Given the description of an element on the screen output the (x, y) to click on. 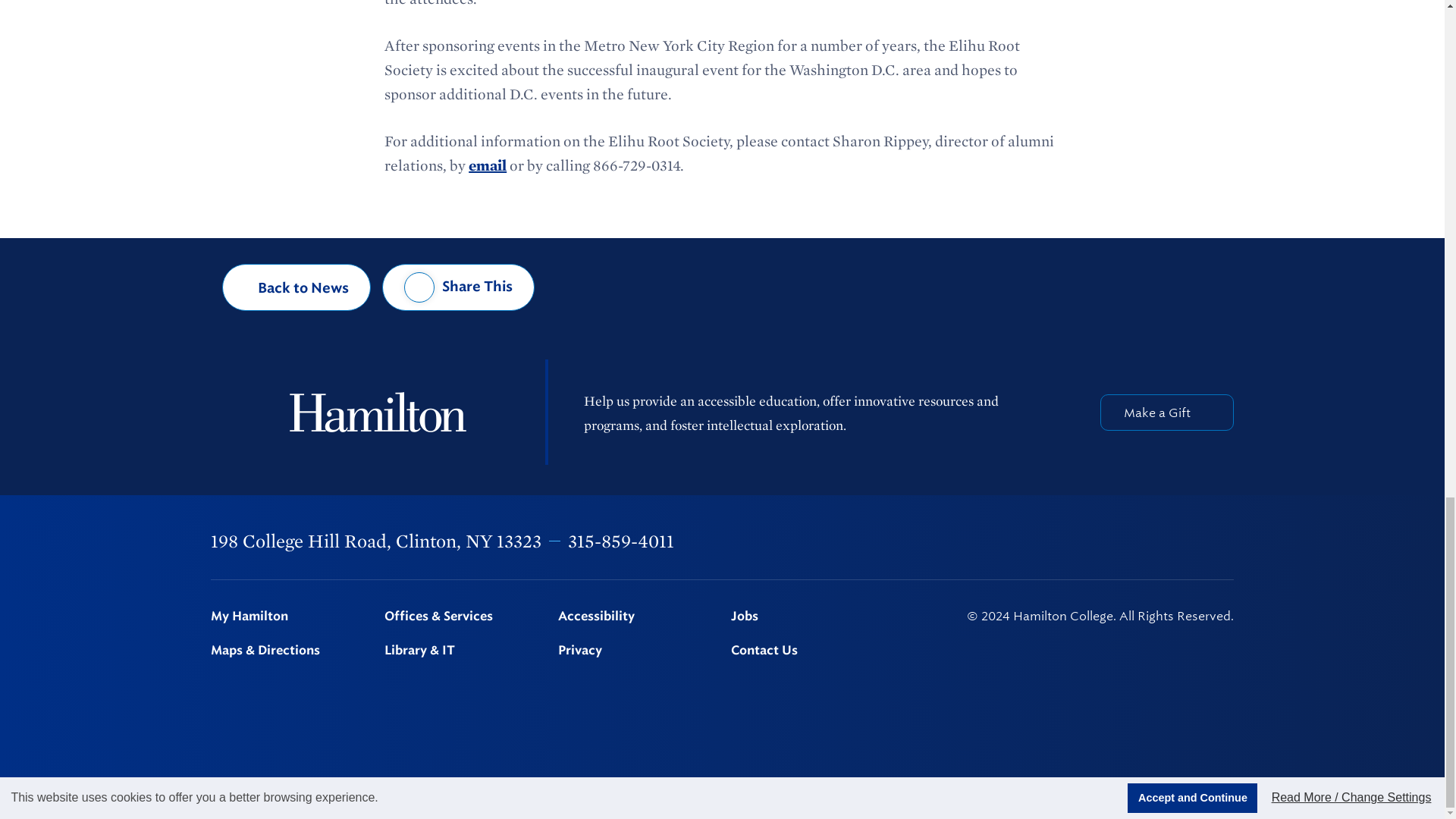
Linkedin (1149, 540)
Instagram (1109, 540)
TikTok (1226, 540)
Youtube (1188, 541)
Share This (457, 287)
email (487, 165)
Back to News (296, 287)
315-859-4011 (620, 540)
198 College Hill Road, Clinton, NY 13323 (375, 540)
Make a Gift (1166, 411)
My Hamilton (288, 616)
Facebook (1029, 540)
Twitter (1069, 540)
